Given the description of an element on the screen output the (x, y) to click on. 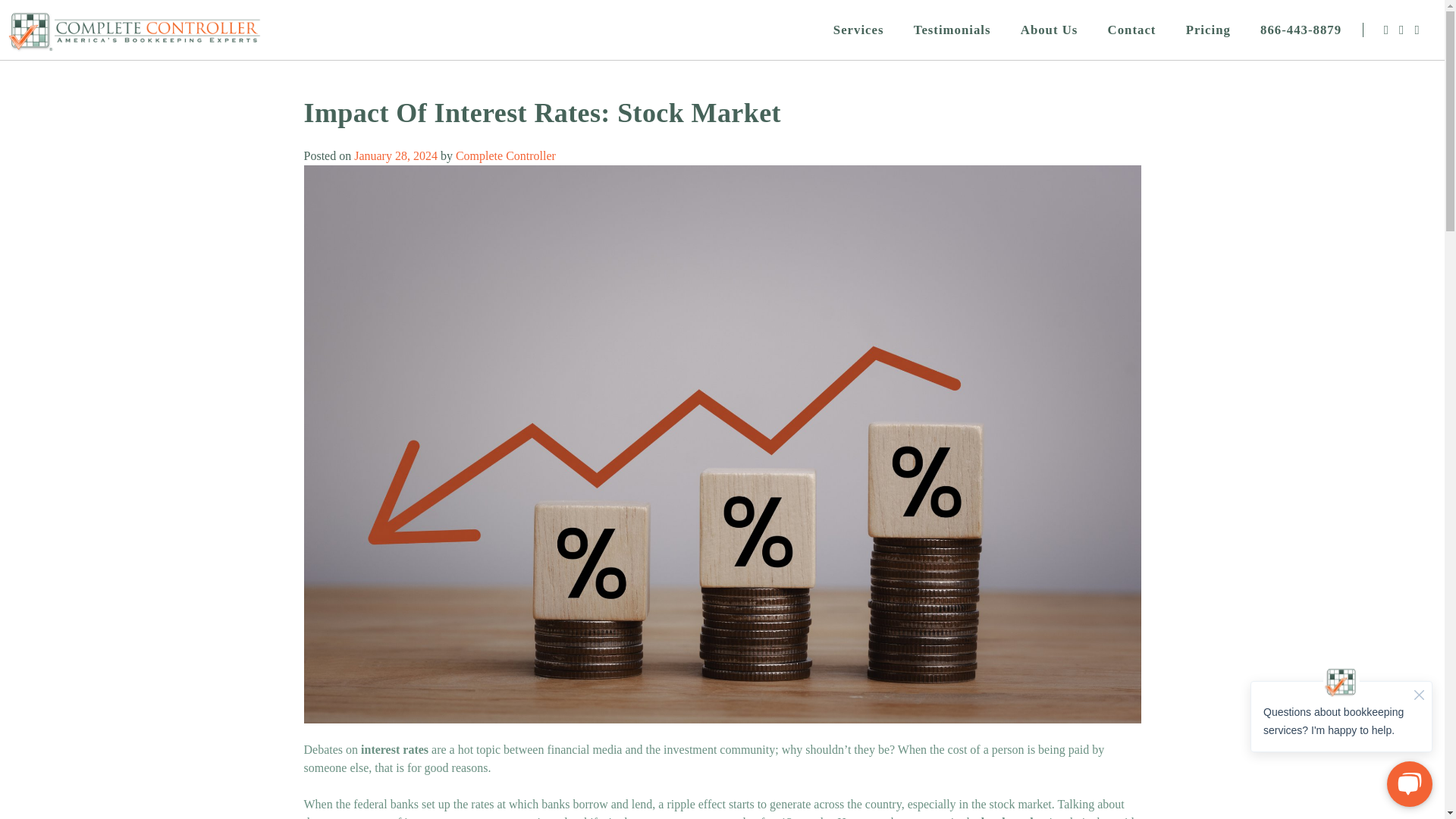
Services (858, 29)
Testimonials (951, 29)
Pricing (1208, 29)
866-443-8879 (1300, 29)
Contact (1131, 29)
About Us (1048, 29)
January 28, 2024 (395, 155)
Complete Controller (505, 155)
